Given the description of an element on the screen output the (x, y) to click on. 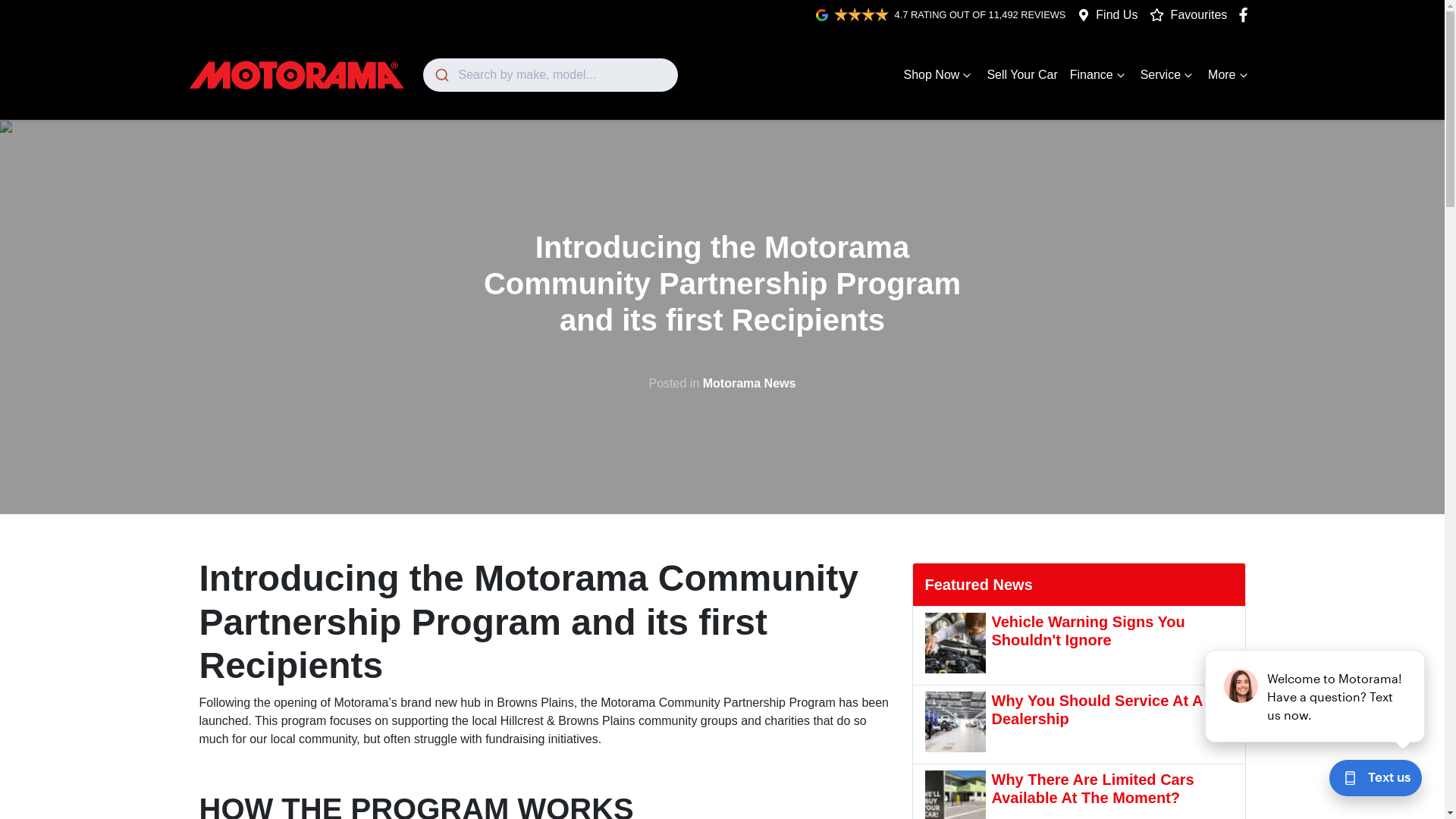
Find Us Element type: text (1116, 14)
Why You Should Service At A Dealership Element type: text (1079, 724)
Shop Now Element type: text (939, 74)
Service Element type: text (1167, 74)
podium webchat widget prompt Element type: hover (1315, 696)
More Element type: text (1228, 74)
Submit Element type: hover (440, 74)
Vehicle Warning Signs You Shouldn't Ignore Element type: text (1079, 645)
Sell Your Car Element type: text (1021, 74)
Finance Element type: text (1098, 74)
Motorama News Element type: text (749, 382)
Favourites Element type: text (1192, 15)
